Given the description of an element on the screen output the (x, y) to click on. 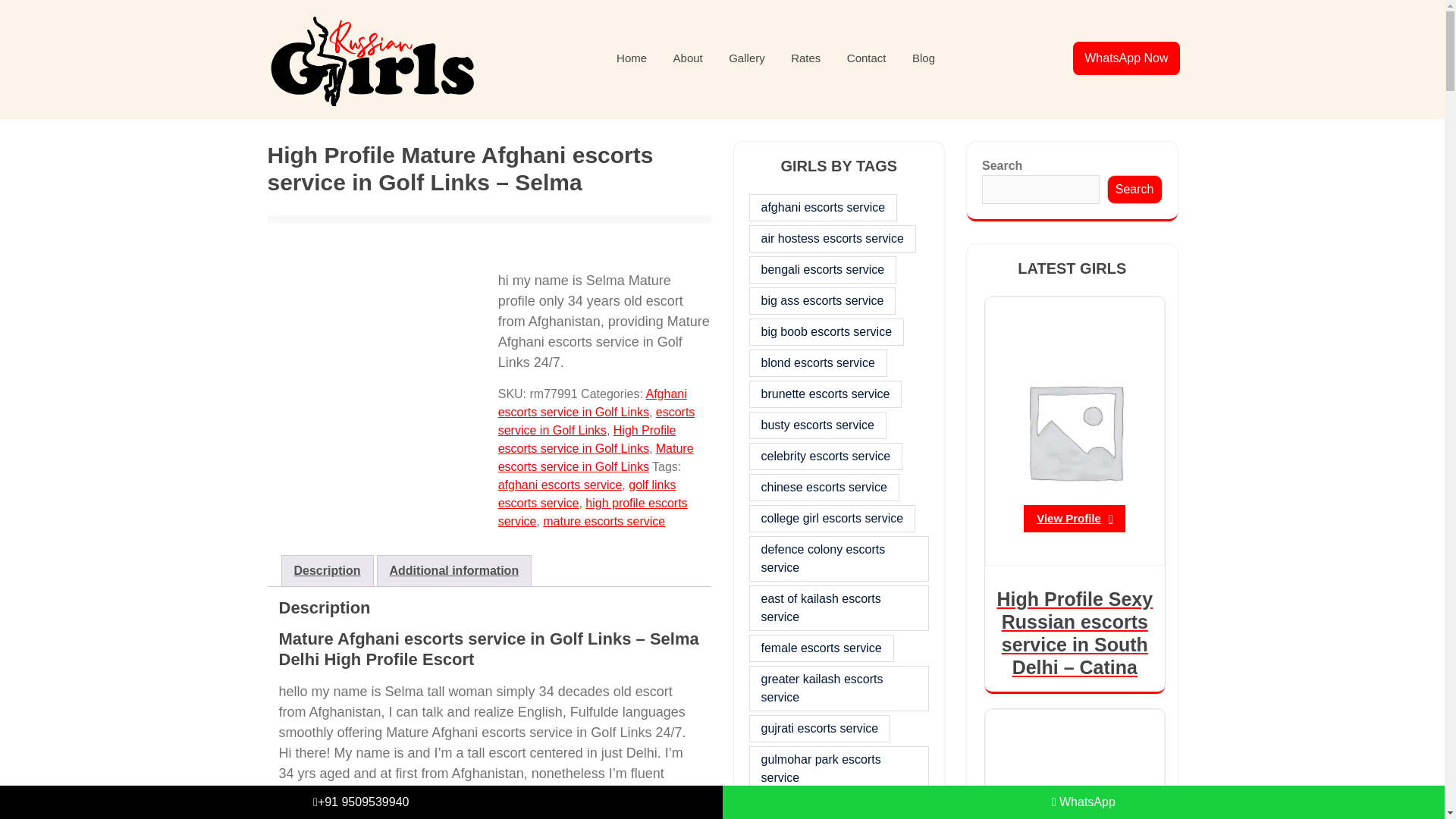
afghani escorts service (560, 484)
Gallery (746, 58)
Afghani escorts service in Golf Links (592, 402)
About (688, 58)
High Profile escorts service in Golf Links (587, 439)
Description (327, 571)
Home (631, 58)
Rates (804, 58)
high profile escorts service (592, 511)
golf links escorts service (587, 493)
escorts service in Golf Links (596, 420)
WhatsApp Now (1125, 57)
Blog (923, 58)
Contact (866, 58)
Mature escorts service in Golf Links (595, 457)
